Given the description of an element on the screen output the (x, y) to click on. 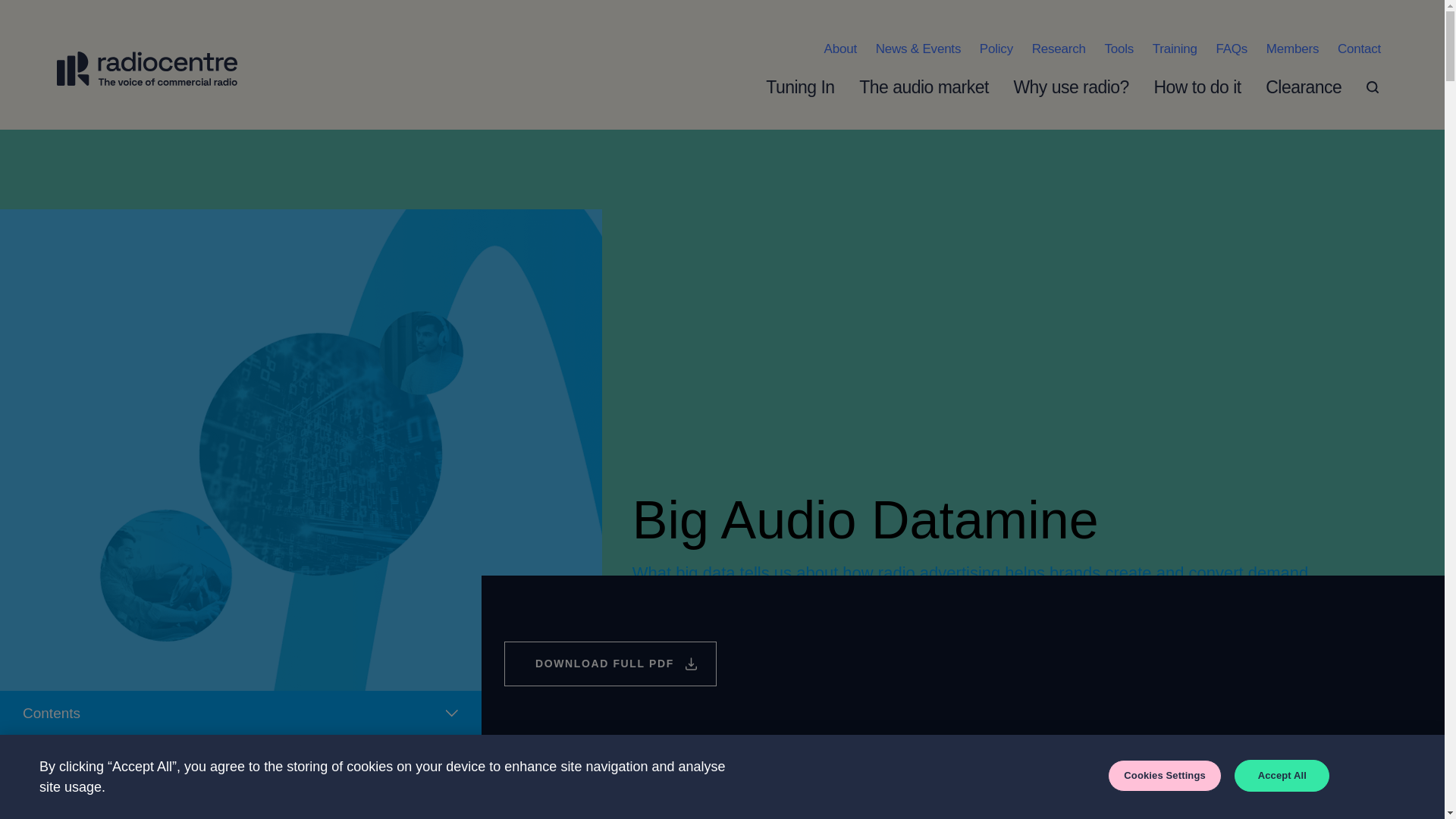
The audio market (938, 86)
Clearance (1317, 86)
Why use radio? (1085, 86)
How to do it (1211, 86)
